Given the description of an element on the screen output the (x, y) to click on. 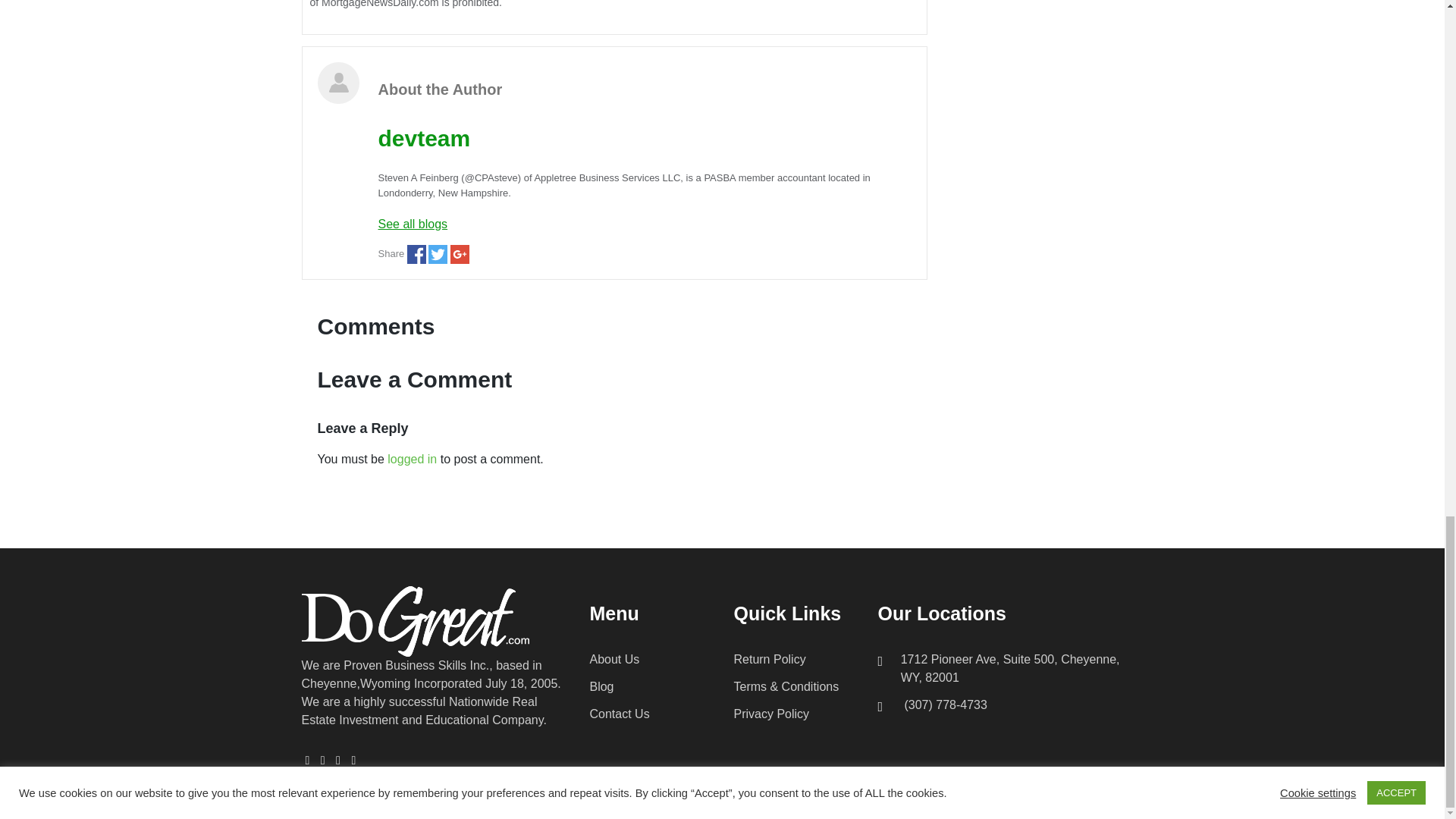
logged in (411, 459)
See all blogs (644, 223)
About Us (614, 658)
